Given the description of an element on the screen output the (x, y) to click on. 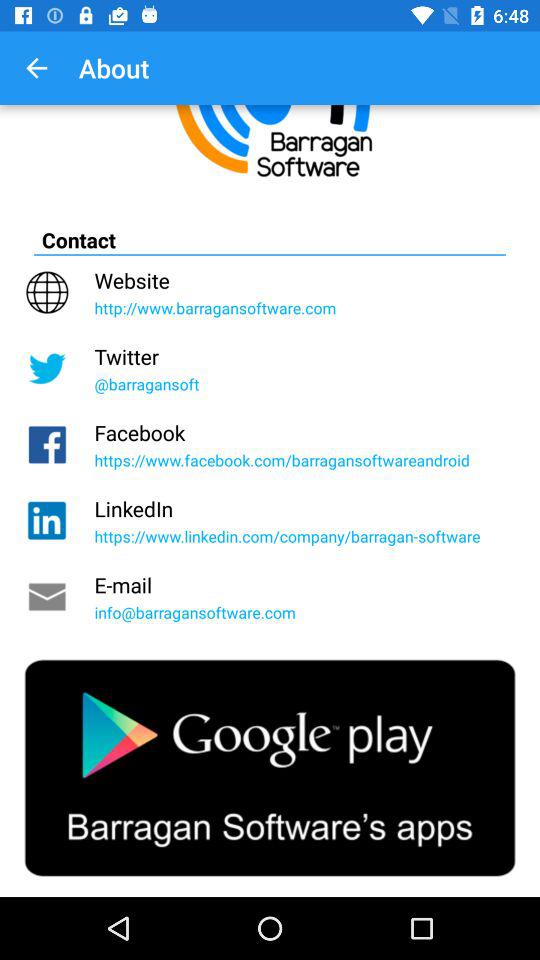
select icon next to the about icon (36, 68)
